Given the description of an element on the screen output the (x, y) to click on. 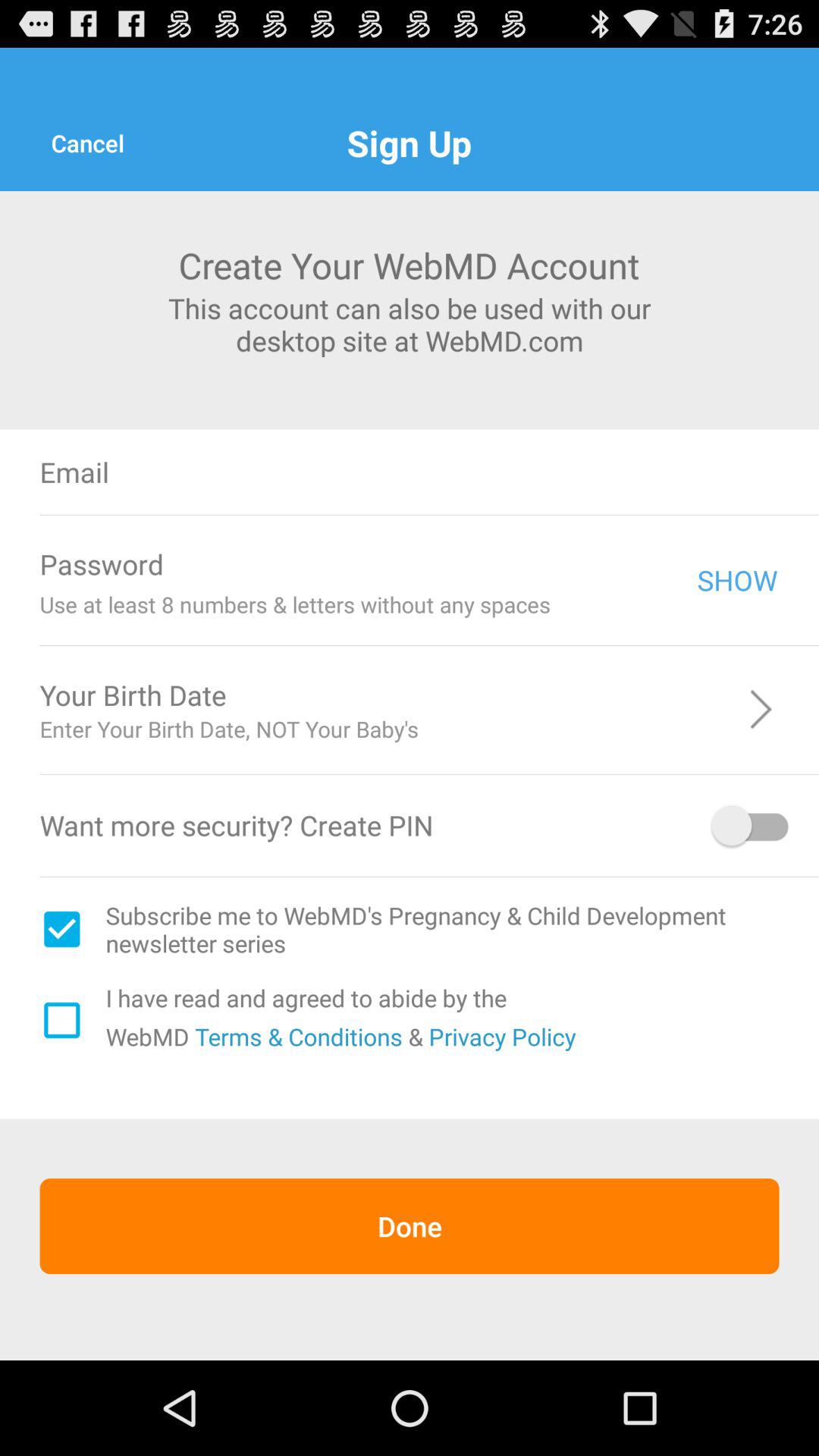
toggle security pin (751, 825)
